Given the description of an element on the screen output the (x, y) to click on. 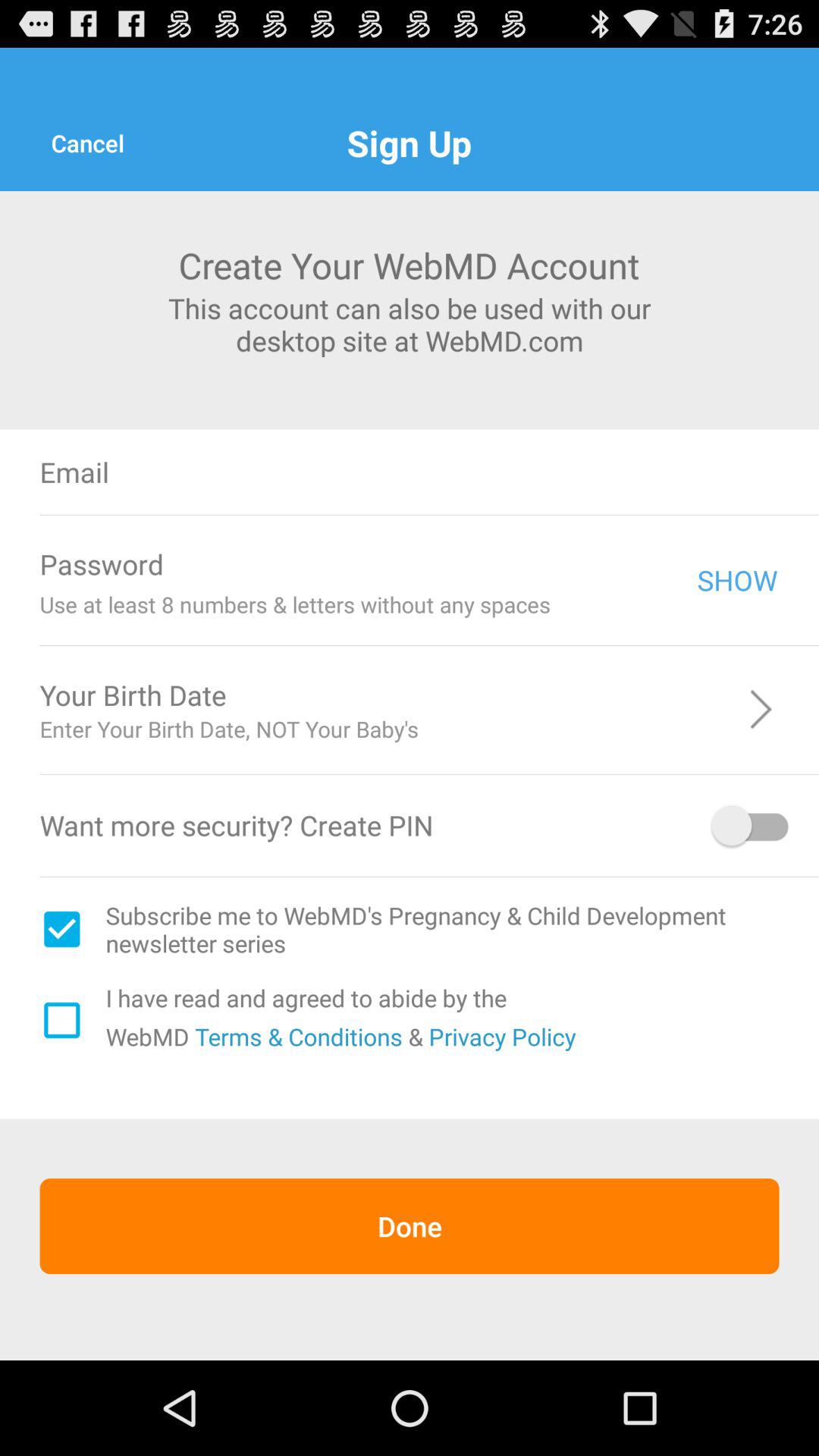
toggle security pin (751, 825)
